Given the description of an element on the screen output the (x, y) to click on. 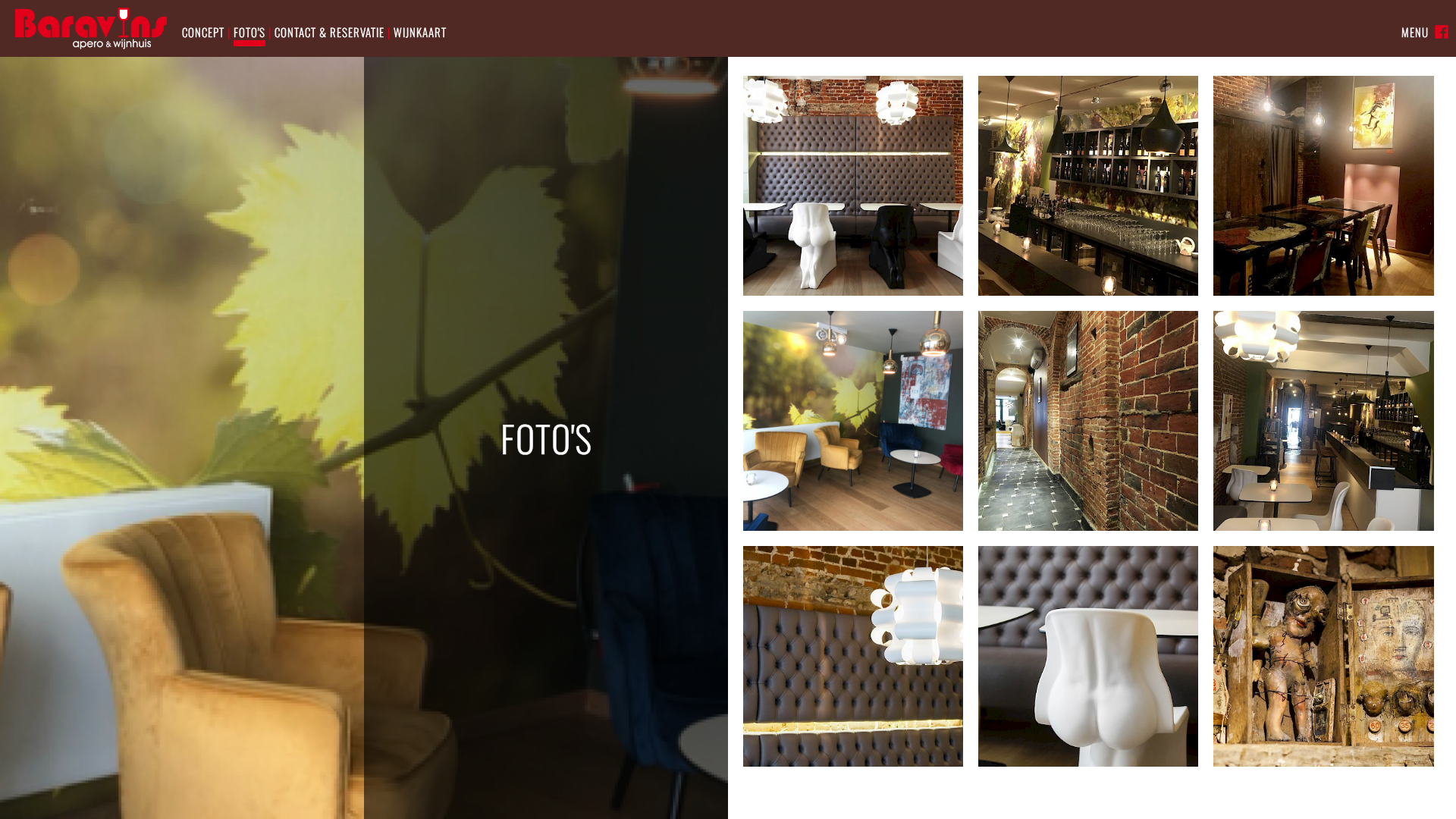
MENU Element type: text (1414, 31)
CONTACT & RESERVATIE Element type: text (329, 31)
WIJNKAART Element type: text (419, 31)
FOTO'S Element type: text (249, 34)
CONCEPT Element type: text (203, 31)
